Given the description of an element on the screen output the (x, y) to click on. 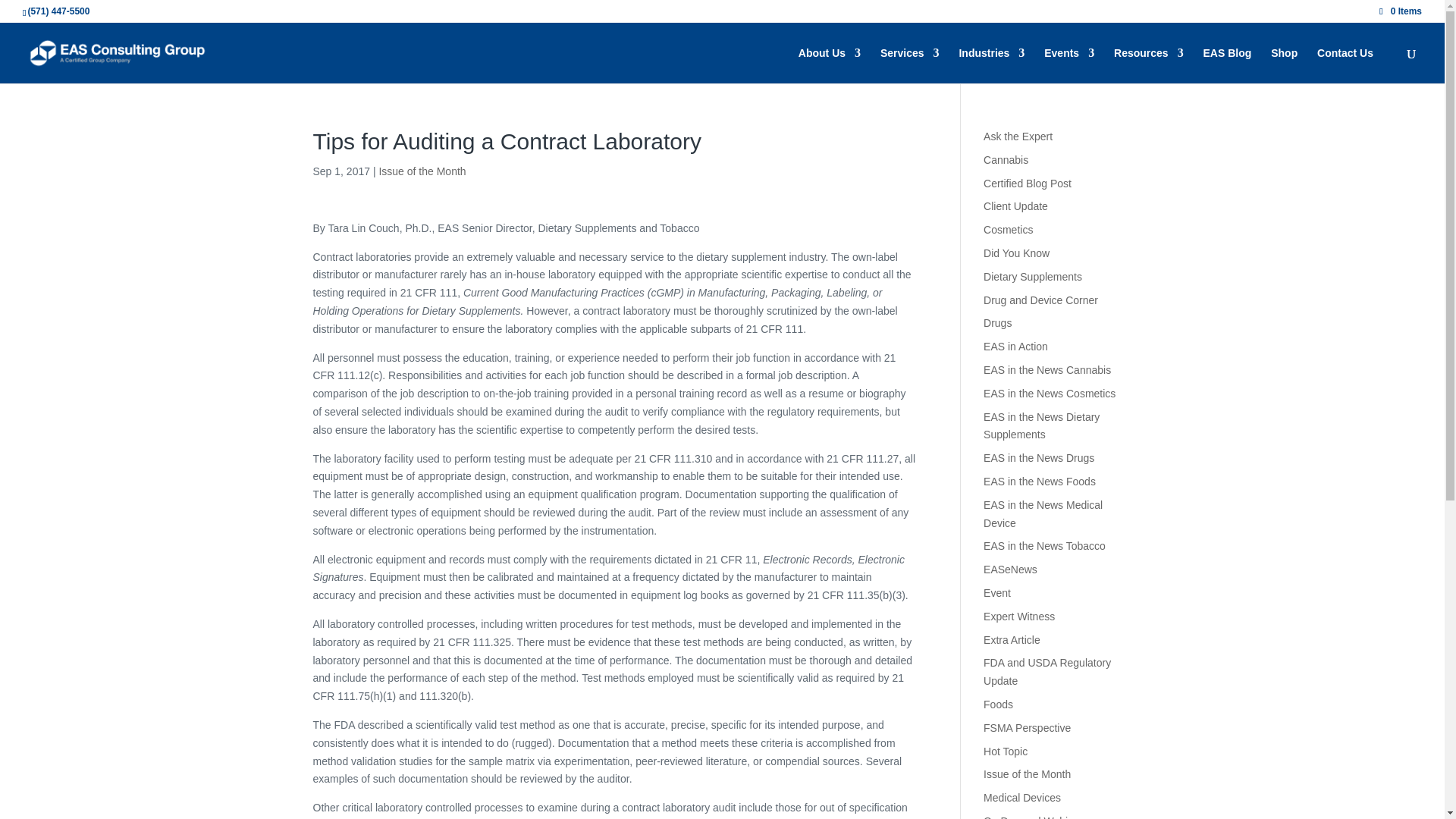
0 Items (1400, 10)
Industries (991, 65)
Events (1068, 65)
About Us (828, 65)
Services (909, 65)
Resources (1148, 65)
